Given the description of an element on the screen output the (x, y) to click on. 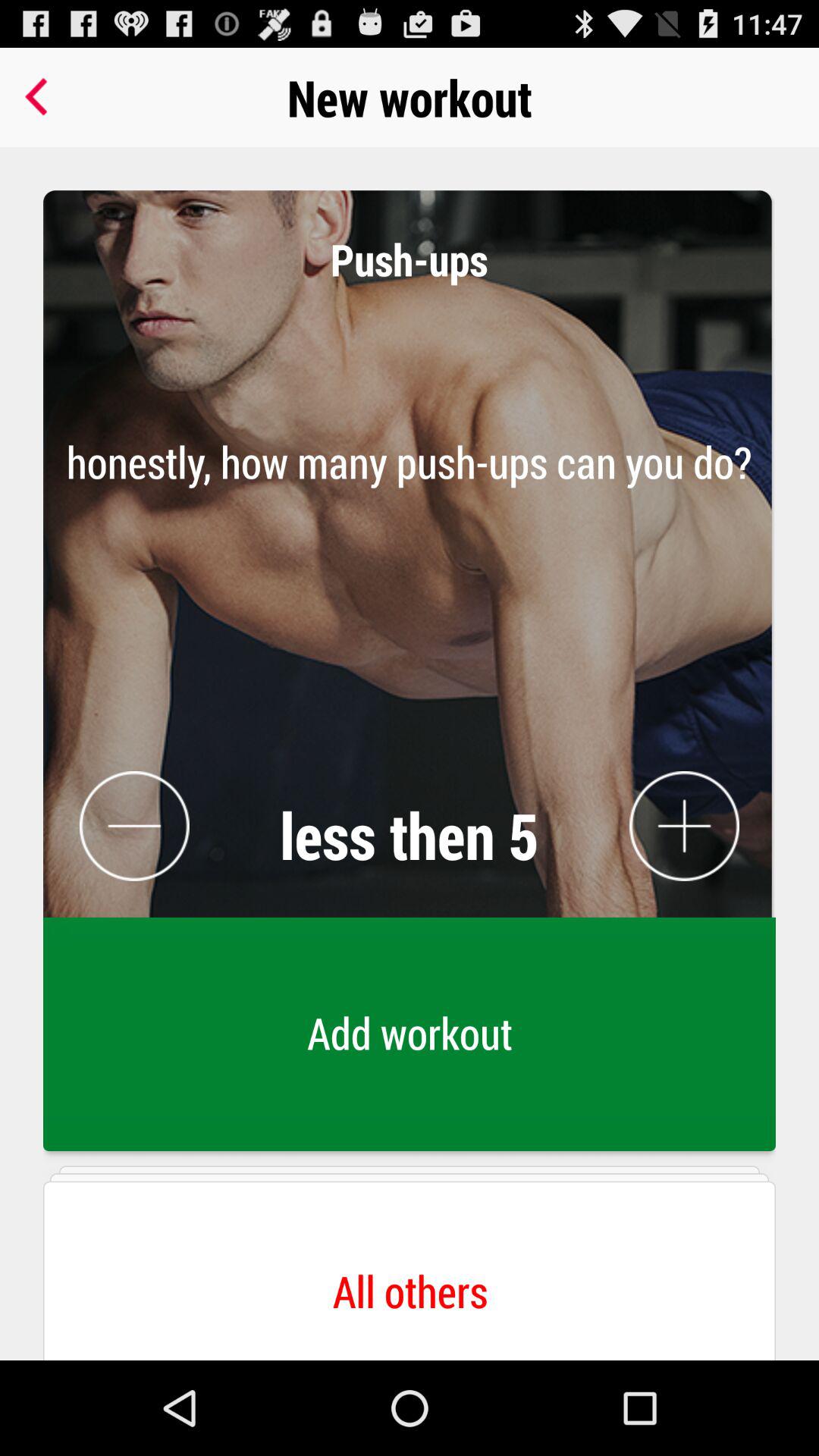
jump to all others (409, 1259)
